Given the description of an element on the screen output the (x, y) to click on. 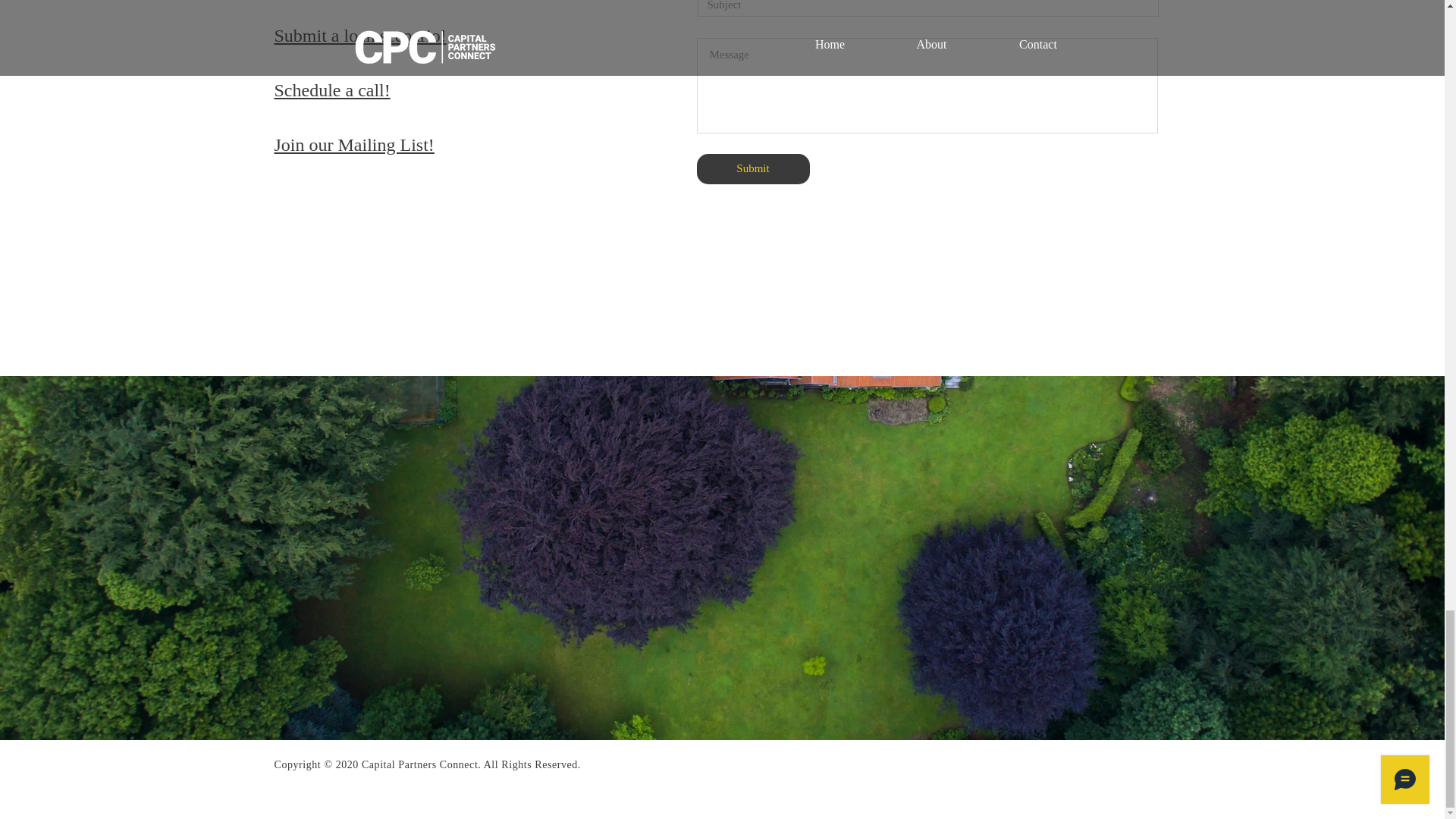
Schedule a call! (332, 89)
Submit a loan scenario! (360, 35)
Submit (752, 168)
Join our Mailing List! (354, 144)
